Given the description of an element on the screen output the (x, y) to click on. 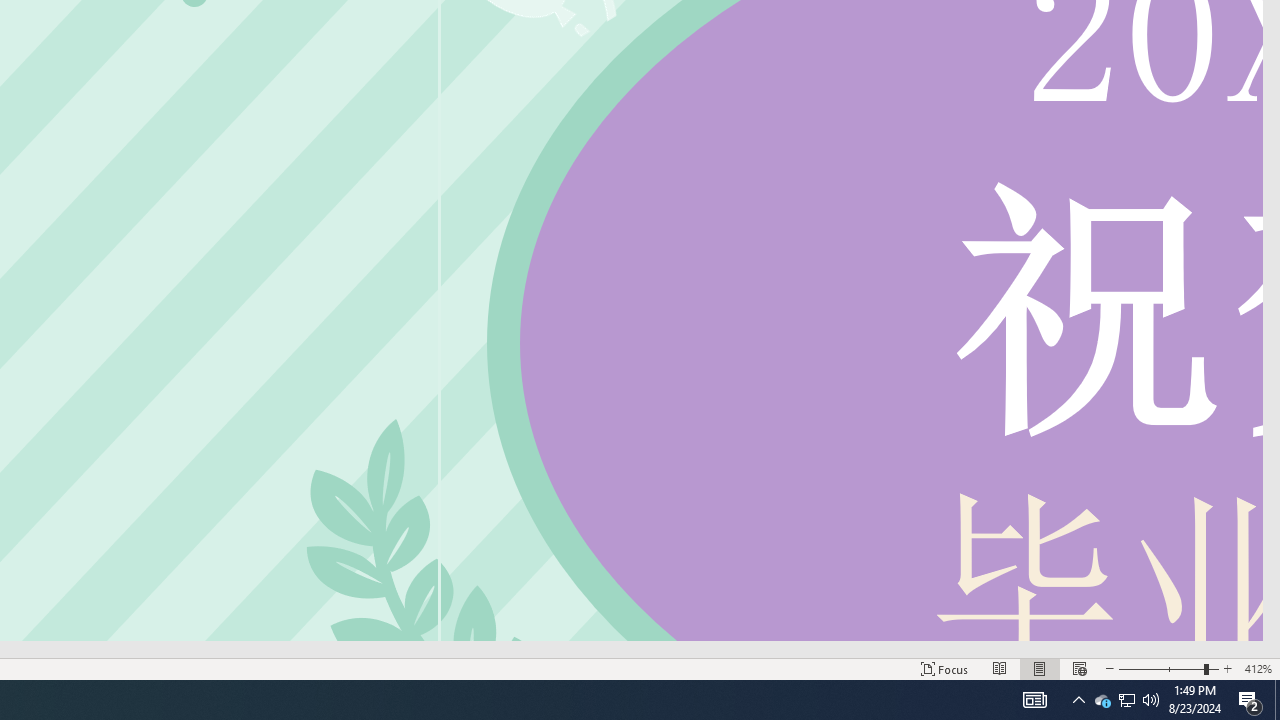
Zoom In (1227, 668)
Read Mode (1000, 668)
Web Layout (1079, 668)
Print Layout (1039, 668)
Zoom Out (1161, 668)
Focus  (944, 668)
Zoom (1168, 668)
